Given the description of an element on the screen output the (x, y) to click on. 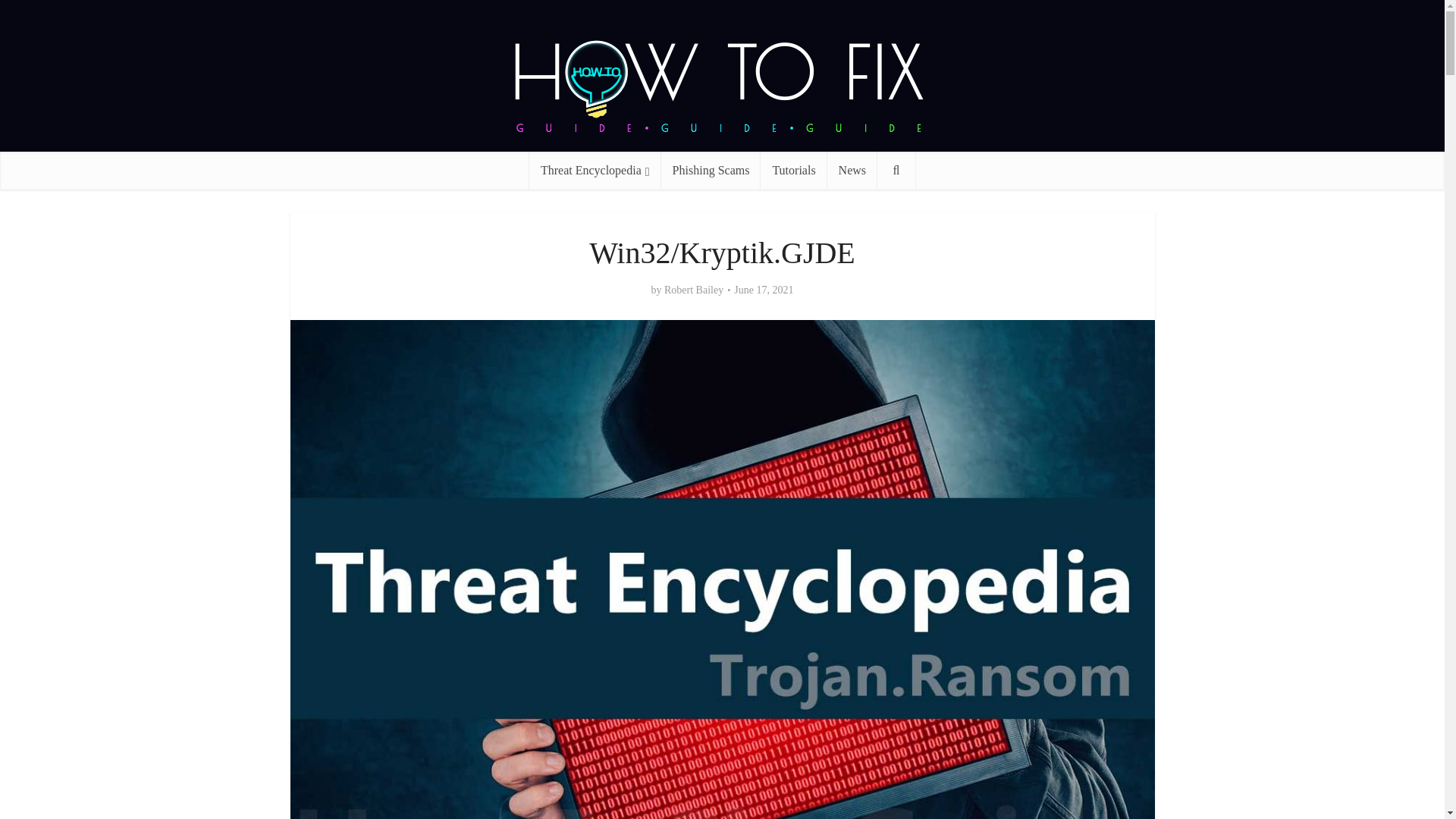
Threat Encyclopedia (595, 170)
News (852, 170)
Robert Bailey (693, 290)
Tutorials (793, 170)
Phishing Scams (711, 170)
